Given the description of an element on the screen output the (x, y) to click on. 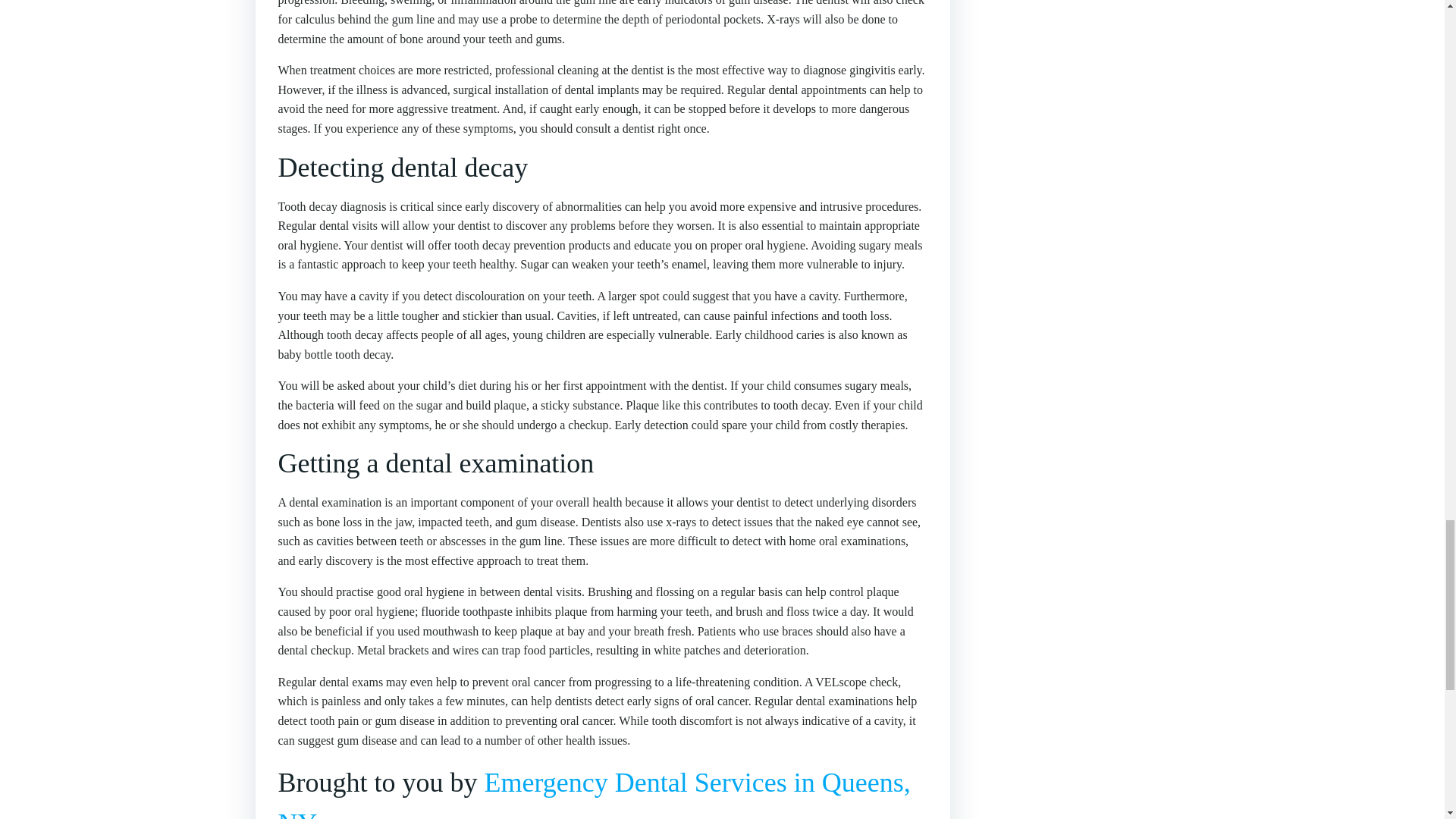
Emergency Dental Services in Queens, NY (594, 793)
